Given the description of an element on the screen output the (x, y) to click on. 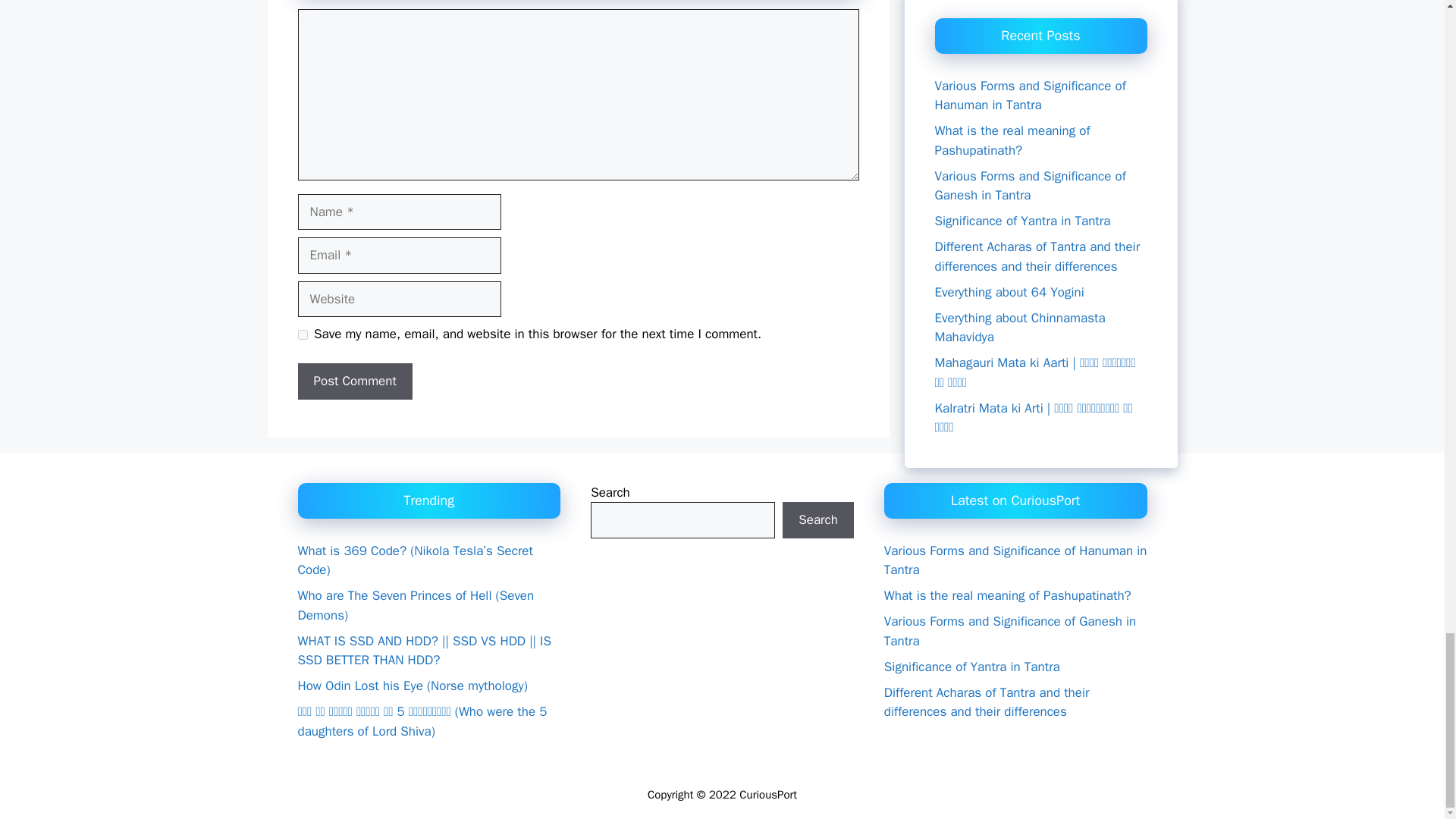
Post Comment (354, 381)
yes (302, 334)
Post Comment (354, 381)
